Given the description of an element on the screen output the (x, y) to click on. 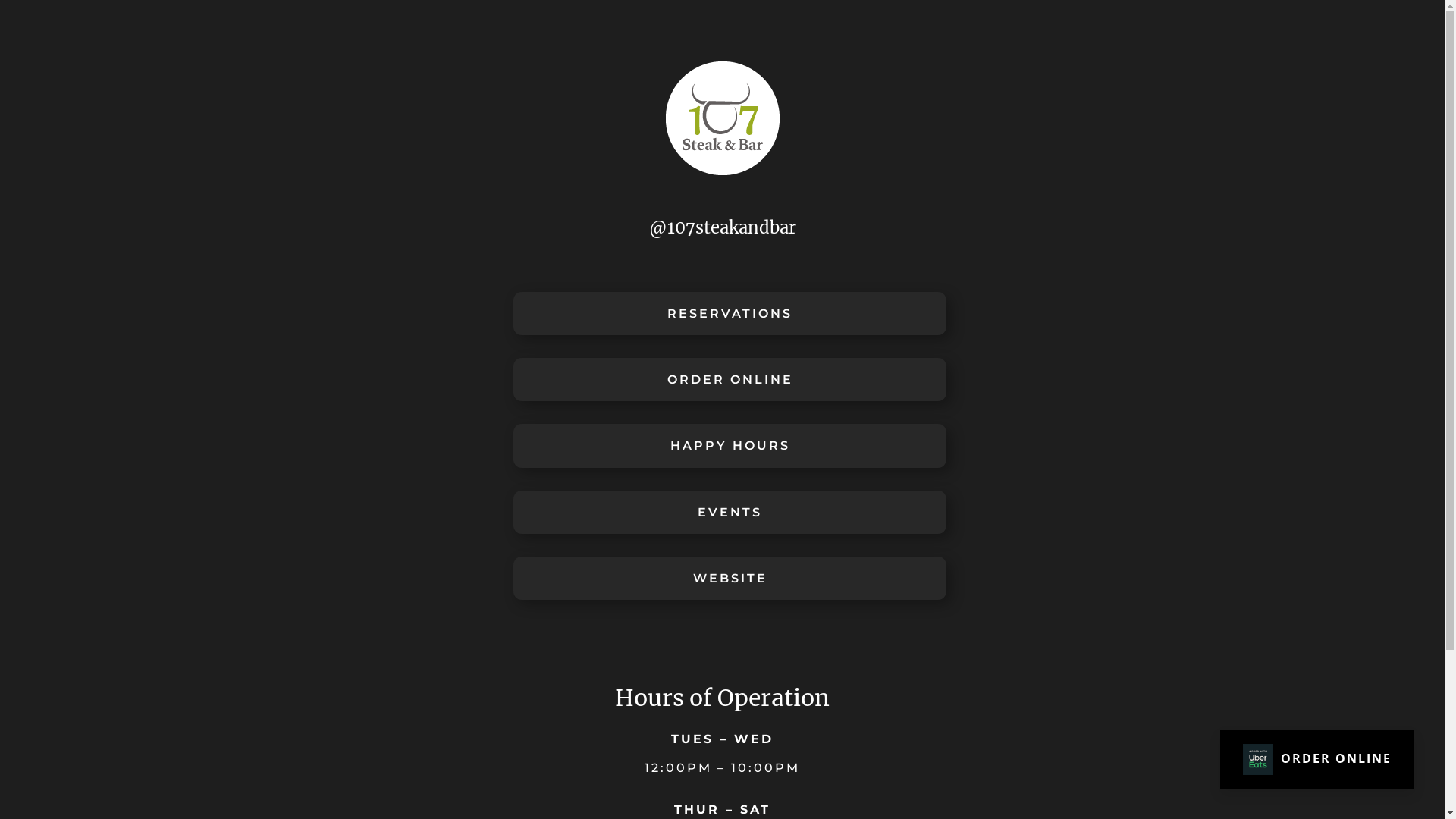
EVENTS Element type: text (730, 511)
RESERVATIONS Element type: text (730, 313)
HAPPY HOURS Element type: text (730, 445)
ORDER ONLINE Element type: text (1317, 759)
ORDER ONLINE Element type: text (730, 379)
logo107 Element type: hover (722, 118)
WEBSITE Element type: text (730, 577)
